Given the description of an element on the screen output the (x, y) to click on. 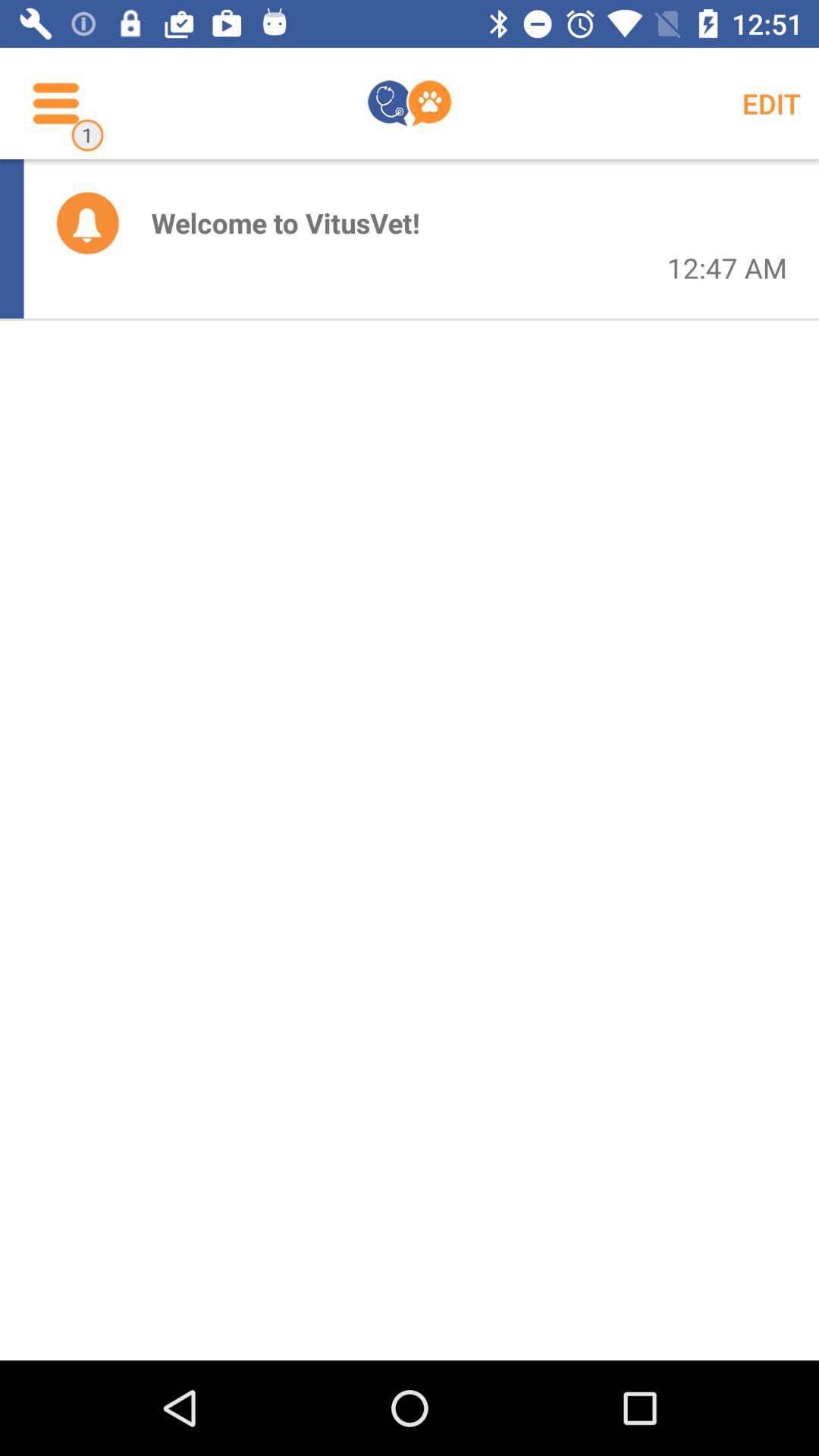
tap icon to the left of the 12:47 am icon (285, 222)
